Given the description of an element on the screen output the (x, y) to click on. 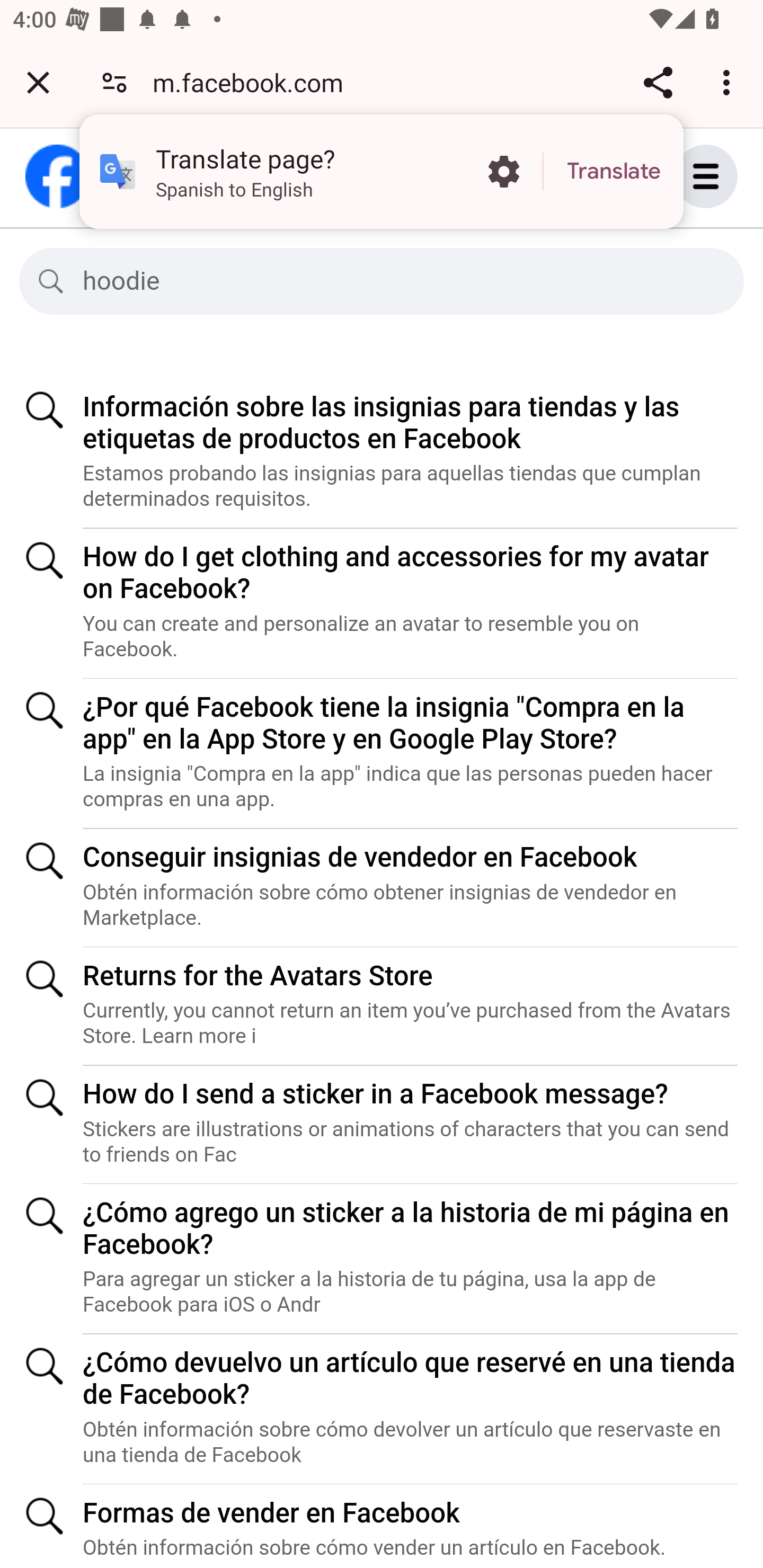
Close tab (38, 82)
Share (657, 82)
Customize and control Google Chrome (729, 82)
Connection is secure (114, 81)
m.facebook.com (254, 81)
Translate (613, 171)
More options in the Translate page? (503, 171)
Menú del servicio de ayuda (724, 176)
hoodie (397, 281)
